Given the description of an element on the screen output the (x, y) to click on. 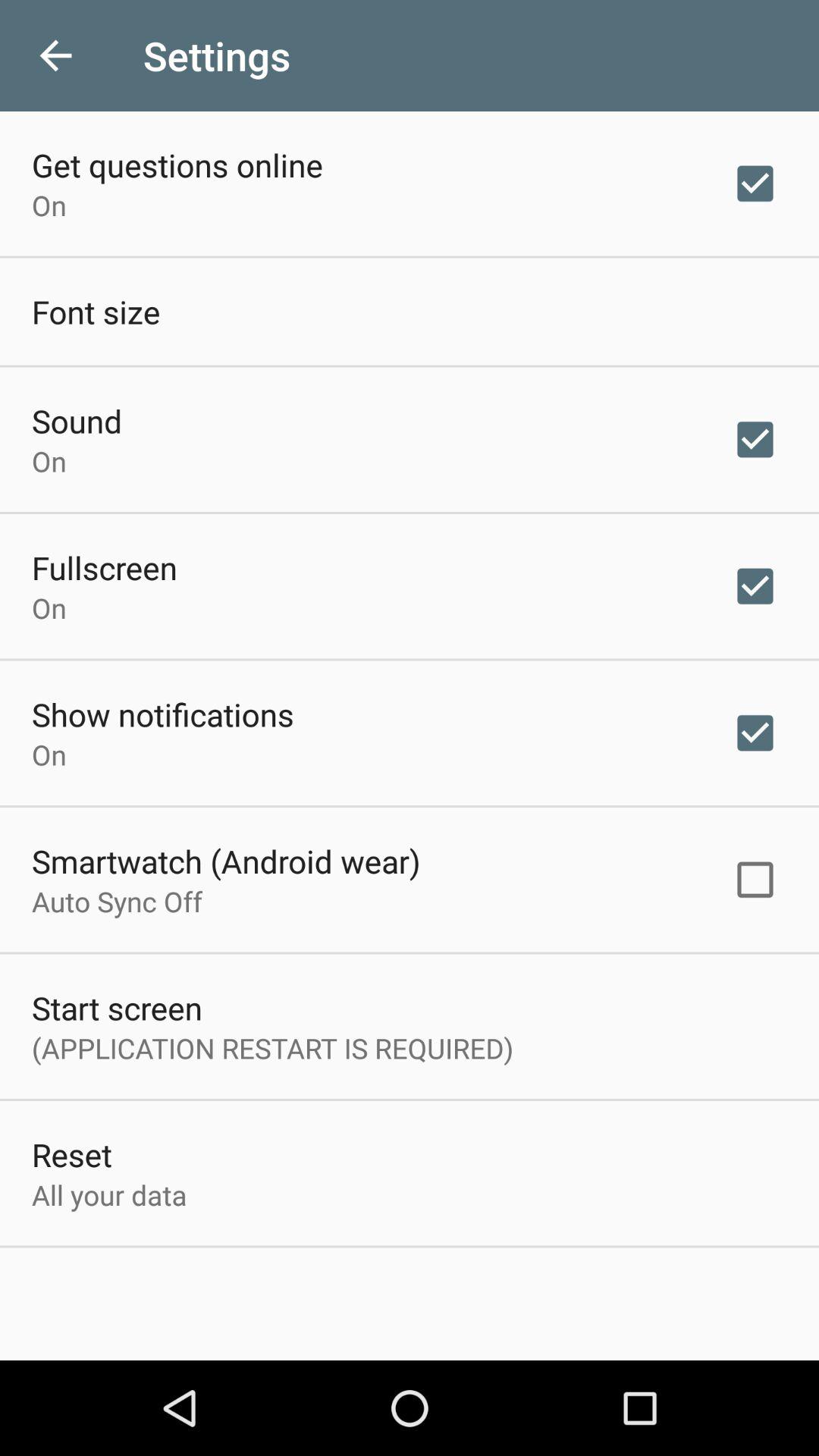
click show notifications (162, 713)
